Given the description of an element on the screen output the (x, y) to click on. 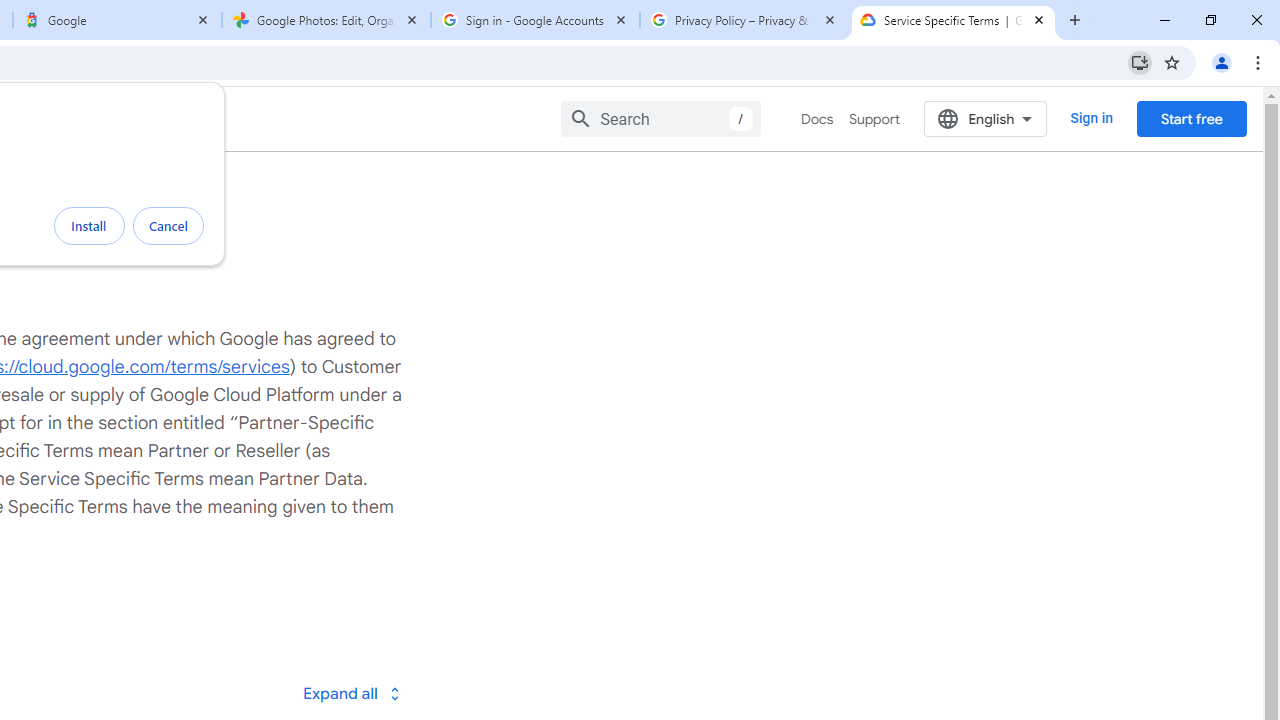
Support (874, 119)
Google (116, 20)
Docs (817, 119)
Install (89, 225)
Toggle all (351, 692)
Start free (1191, 118)
Sign in - Google Accounts (535, 20)
